Given the description of an element on the screen output the (x, y) to click on. 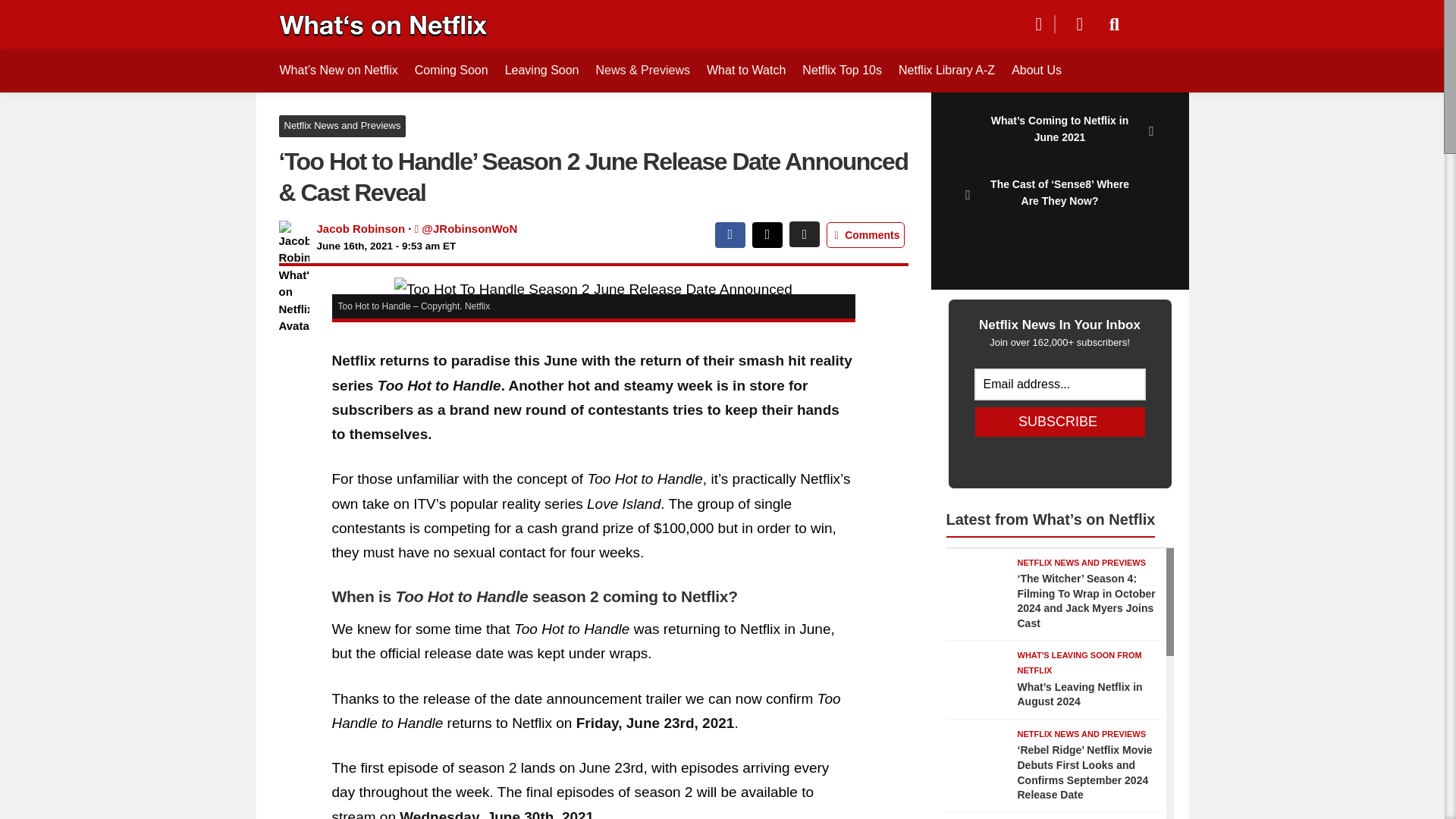
What to Watch (746, 70)
Posts by Jacob Robinson (361, 228)
Jacob Robinson (361, 228)
Netflix News and Previews (342, 126)
Subscribe  (1059, 421)
Search What's on Netflix (1114, 24)
Netflix Top 10s (842, 70)
Subscribe to What's on Netflix (1073, 24)
Leaving Soon (541, 70)
Coming Soon (451, 70)
Too Hot To Handle Season 2 June Release Date Announced (593, 289)
NETFLIX NEWS AND PREVIEWS (1082, 562)
NETFLIX NEWS AND PREVIEWS (1082, 733)
WHAT'S LEAVING SOON FROM NETFLIX (1079, 662)
About Us (1036, 70)
